Given the description of an element on the screen output the (x, y) to click on. 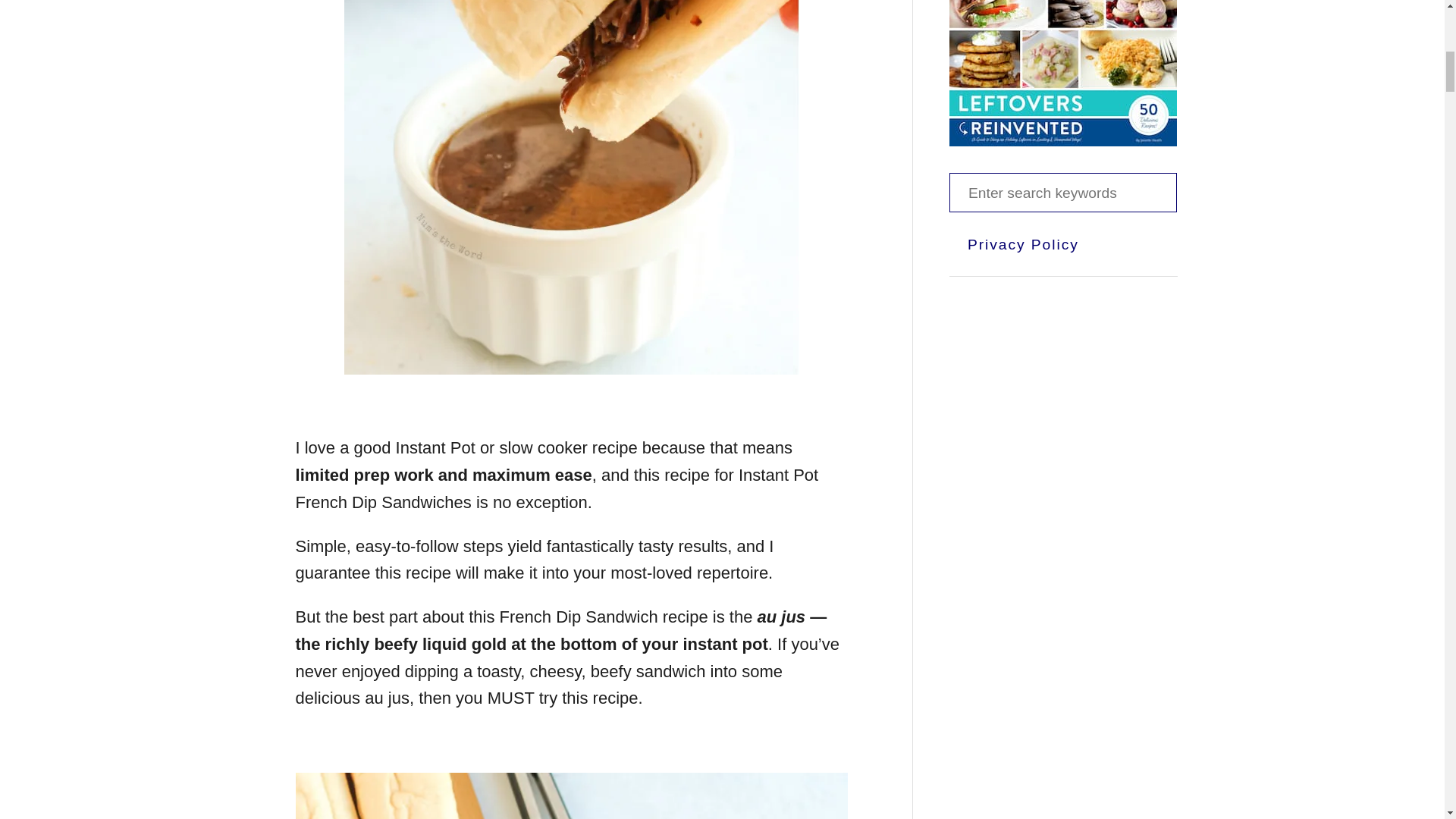
Search for: (1062, 192)
